Given the description of an element on the screen output the (x, y) to click on. 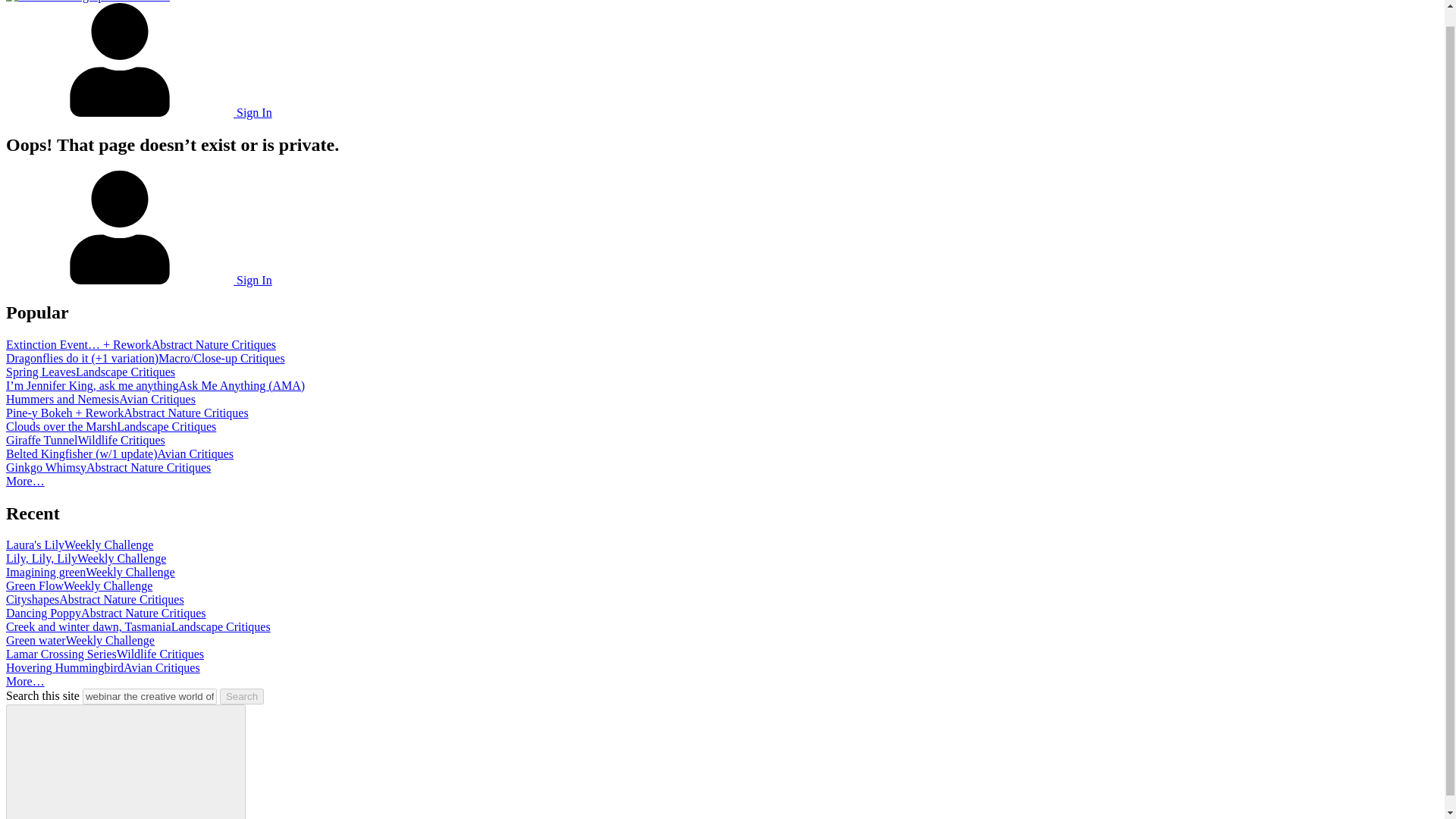
Avian Critiques (157, 399)
Giraffe Tunnel (41, 440)
Weekly Challenge (129, 571)
Hummers and Nemesis (62, 399)
Cityshapes (32, 599)
Ginkgo Whimsy (45, 467)
Avian Critiques (195, 453)
Weekly Challenge (108, 544)
Green Flow (34, 585)
Laura's Lily (34, 544)
Sign In (138, 279)
Sign In (138, 112)
Abstract Nature Critiques (148, 467)
Weekly Challenge (108, 585)
